Given the description of an element on the screen output the (x, y) to click on. 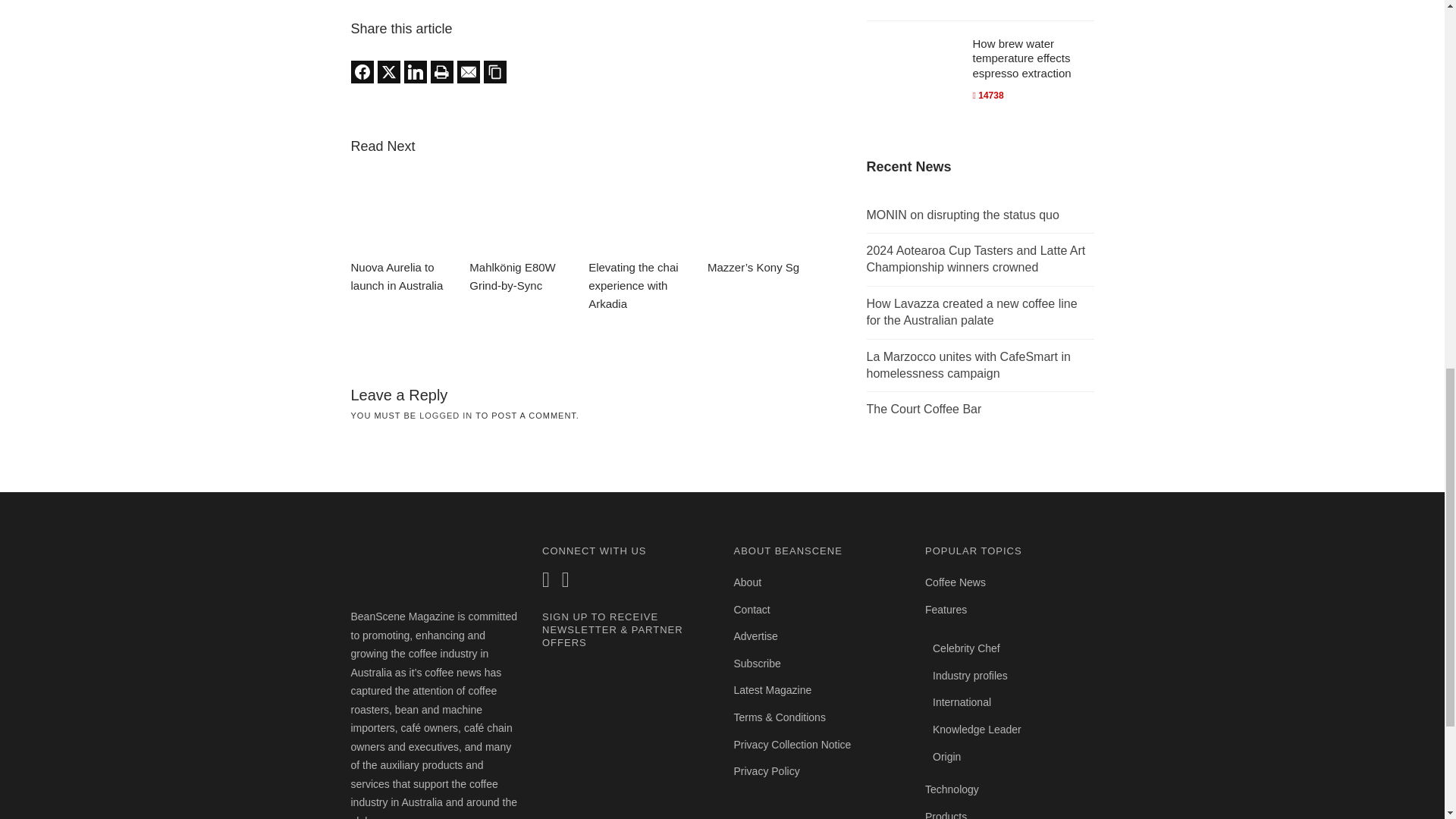
Share on Facebook (361, 71)
Share on Twitter (388, 71)
Share on LinkedIn (414, 71)
